Given the description of an element on the screen output the (x, y) to click on. 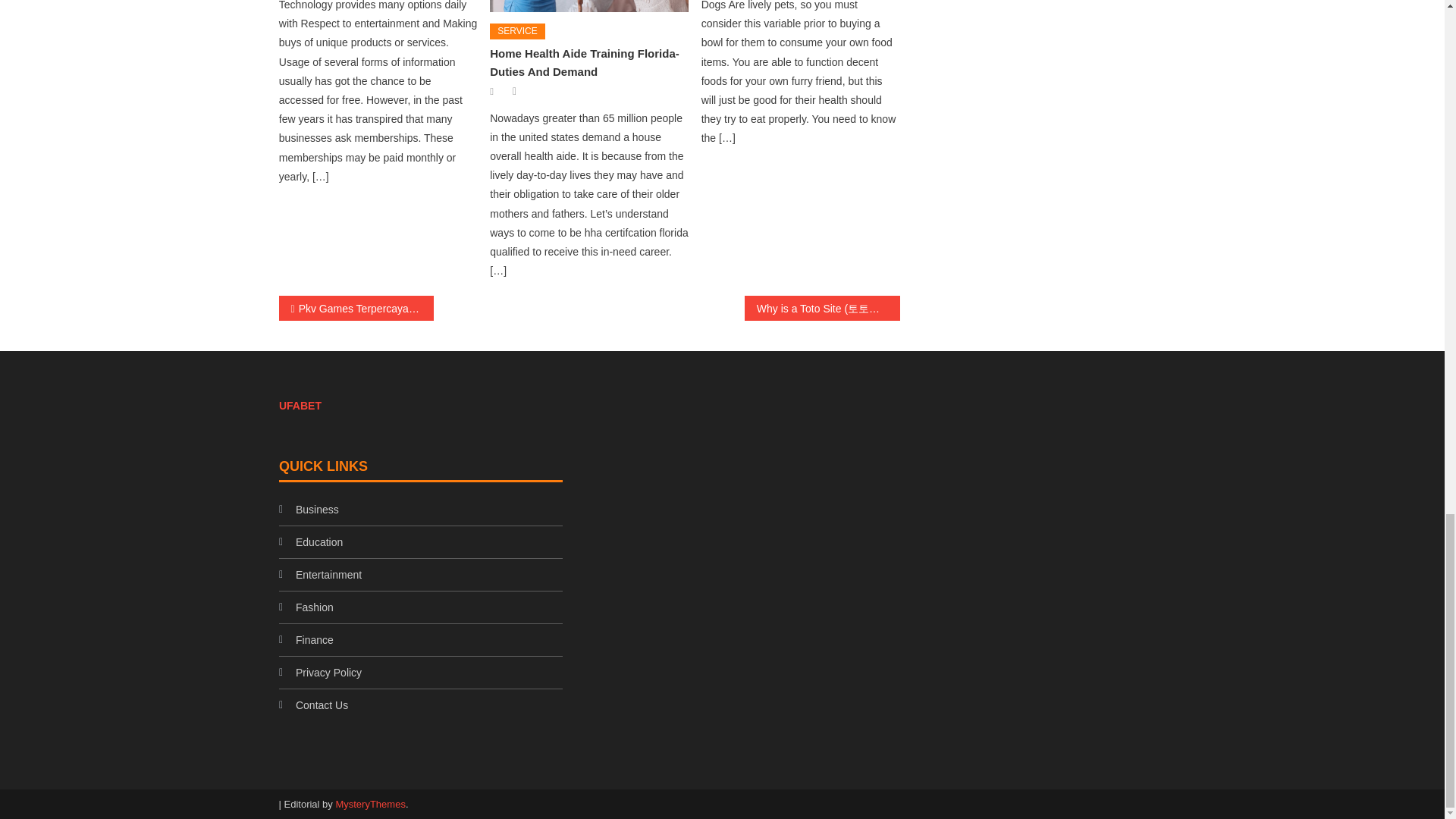
Home Health Aide Training Florida- Duties And Demand (583, 61)
Home Health Aide Training Florida- Duties And Demand (588, 6)
SERVICE (516, 31)
